Given the description of an element on the screen output the (x, y) to click on. 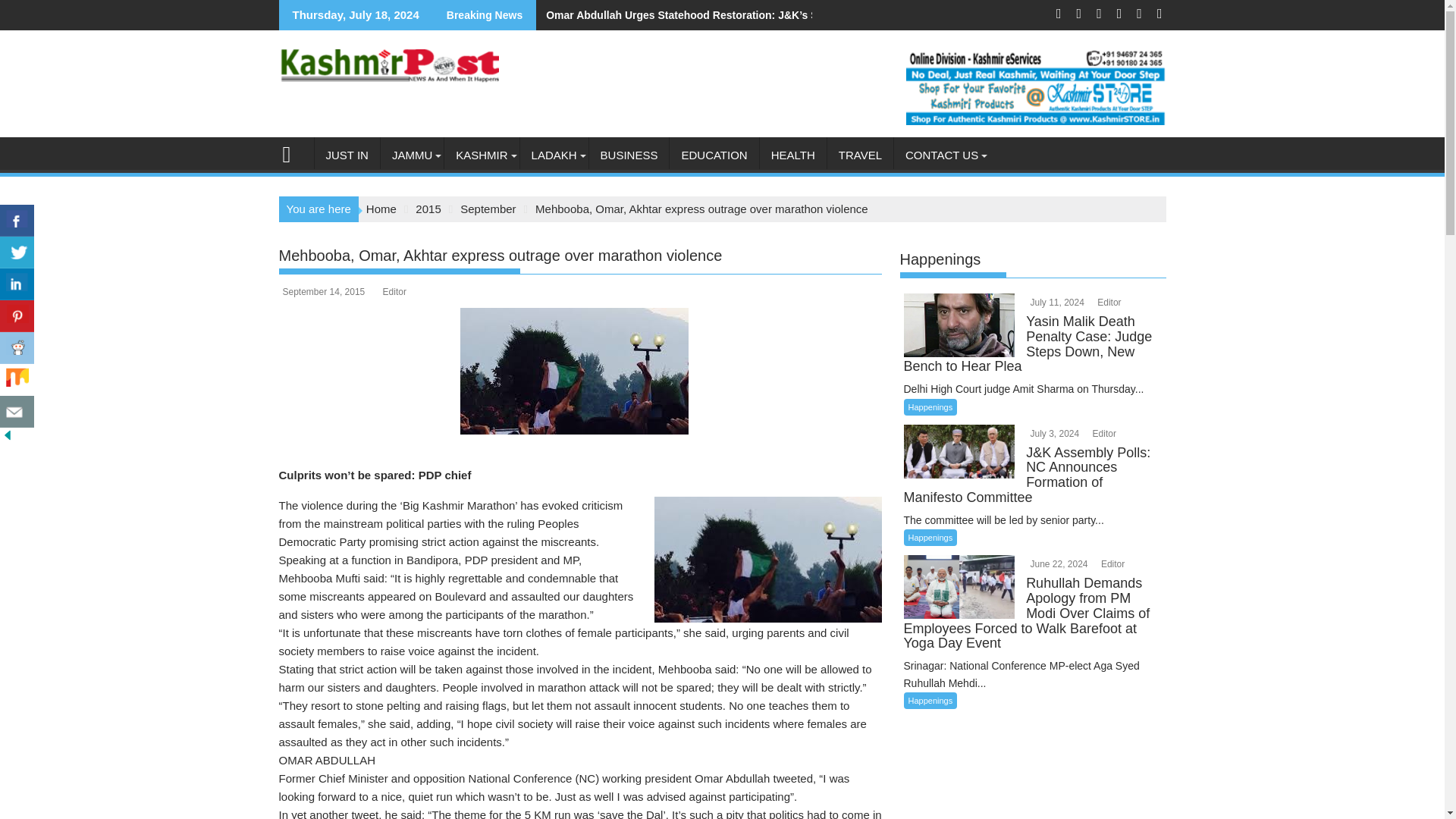
Vegetable Prices Outpace Meat in Kashmir: A Shocking Reality (411, 15)
JUST IN (346, 155)
KASHMIR (481, 155)
JAMMU (412, 155)
Vegetable Prices Outpace Meat in Kashmir: A Shocking Reality (411, 15)
Kashmir POST (293, 152)
